Given the description of an element on the screen output the (x, y) to click on. 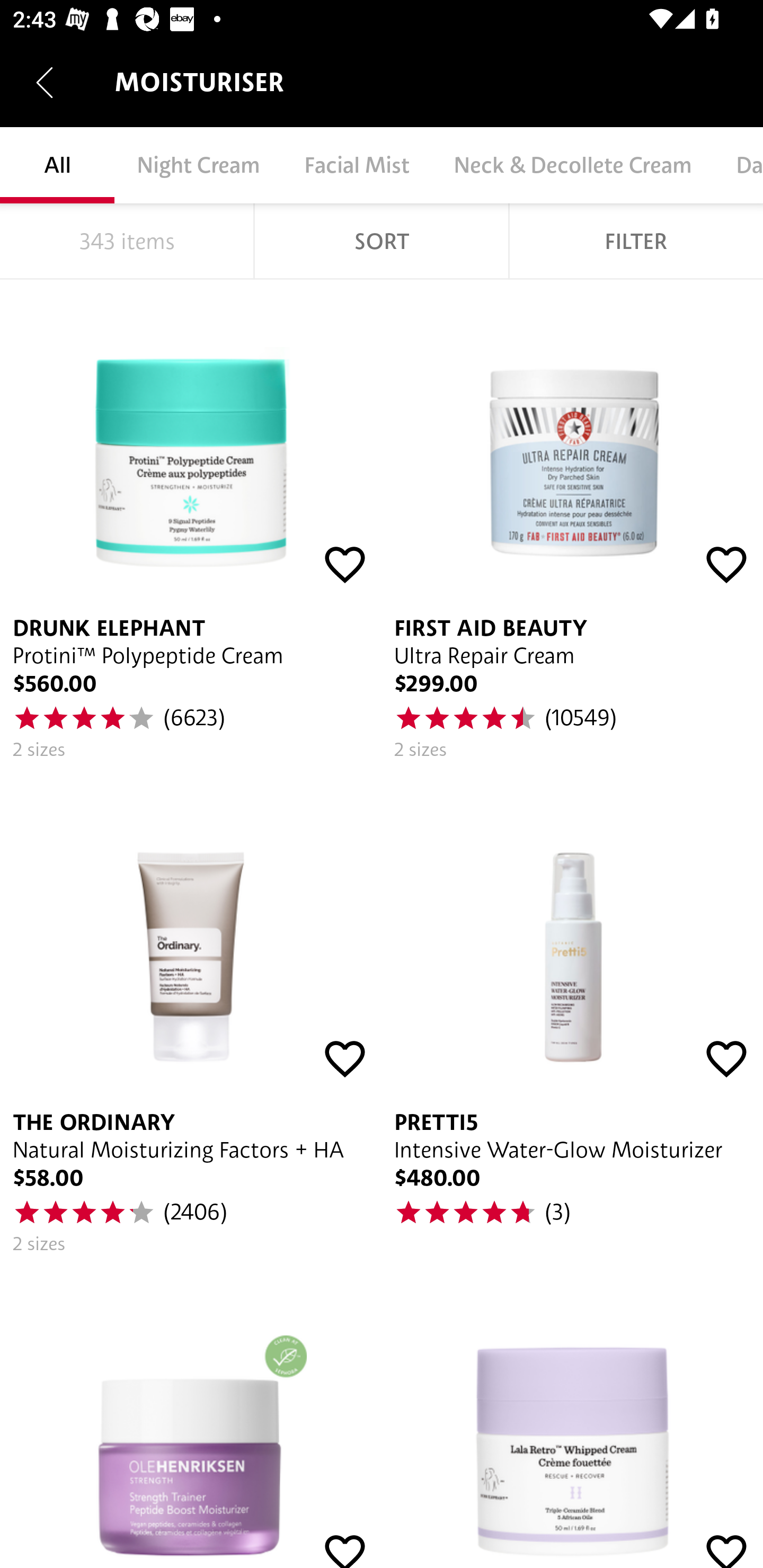
Navigate up (44, 82)
Night Cream (197, 165)
Facial Mist (356, 165)
Neck & Decollete Cream (572, 165)
SORT (381, 241)
FILTER (636, 241)
